Given the description of an element on the screen output the (x, y) to click on. 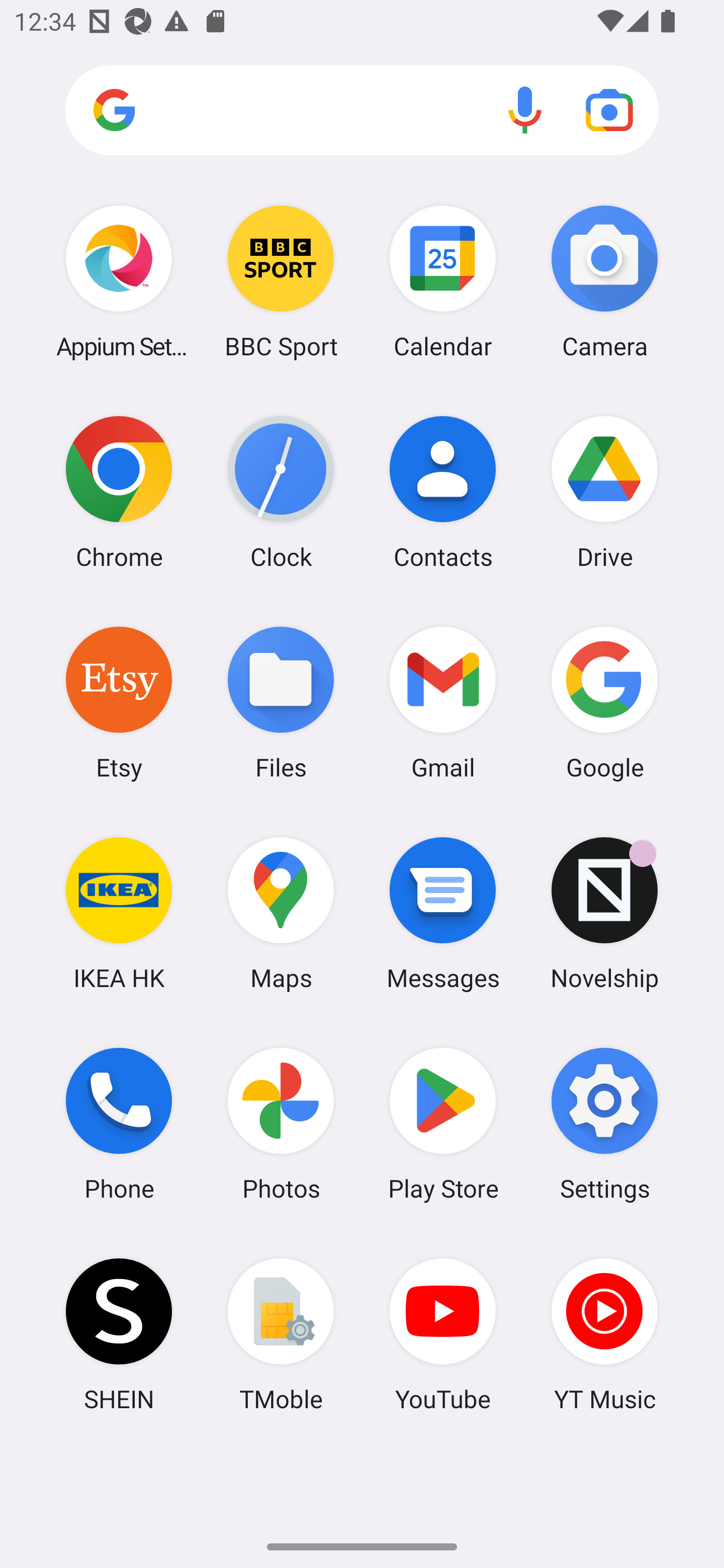
Search apps, web and more (361, 110)
Voice search (524, 109)
Google Lens (608, 109)
Appium Settings (118, 281)
BBC Sport (280, 281)
Calendar (443, 281)
Camera (604, 281)
Chrome (118, 492)
Clock (280, 492)
Contacts (443, 492)
Drive (604, 492)
Etsy (118, 702)
Files (280, 702)
Gmail (443, 702)
Google (604, 702)
IKEA HK (118, 913)
Maps (280, 913)
Messages (443, 913)
Novelship Novelship has 7 notifications (604, 913)
Phone (118, 1124)
Photos (280, 1124)
Play Store (443, 1124)
Settings (604, 1124)
SHEIN (118, 1334)
TMoble (280, 1334)
YouTube (443, 1334)
YT Music (604, 1334)
